Given the description of an element on the screen output the (x, y) to click on. 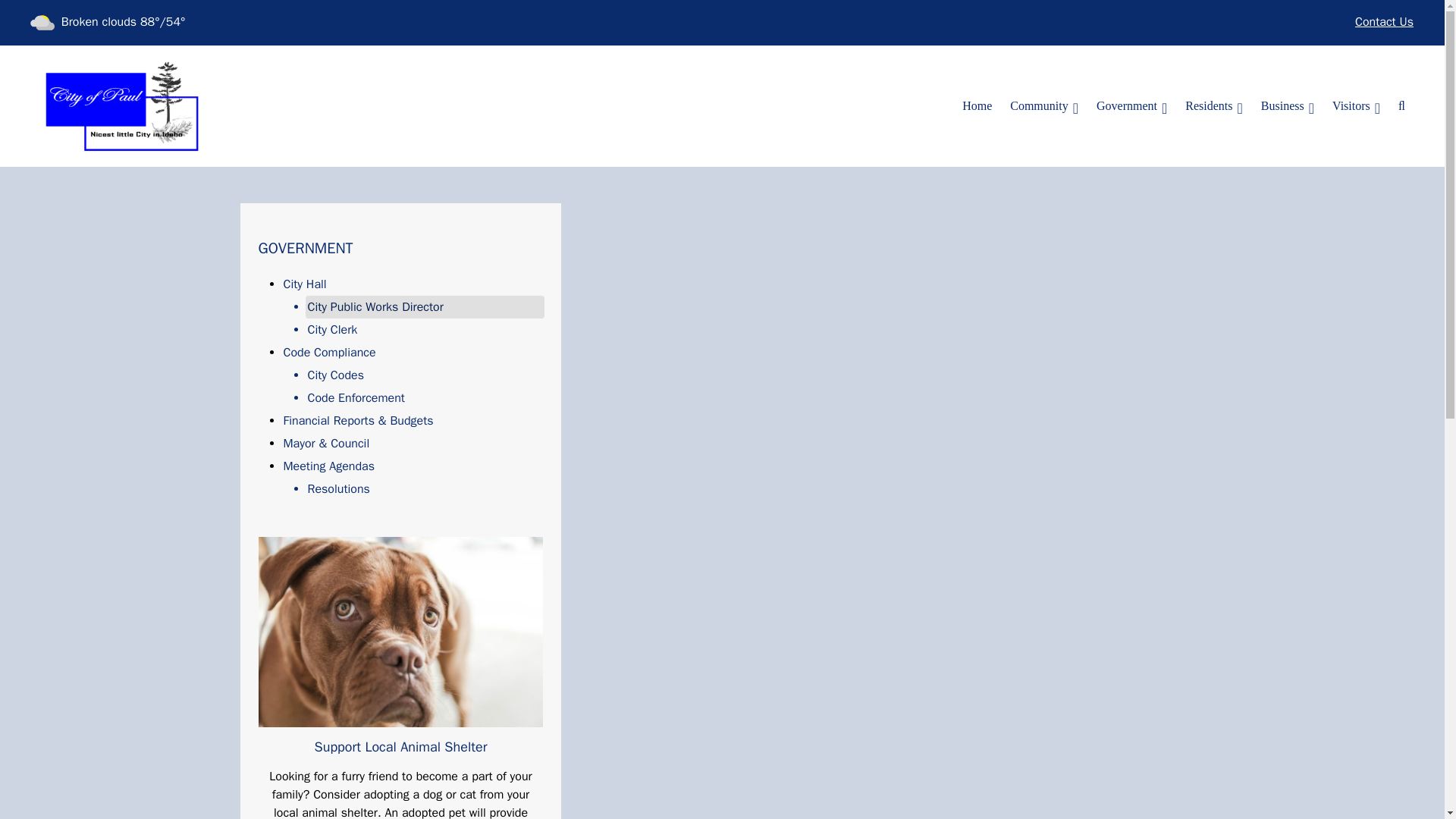
Contact Us (1383, 22)
Community (1044, 105)
contains current page link (1131, 105)
Home (977, 105)
Government (1131, 105)
Residents (1214, 105)
